Given the description of an element on the screen output the (x, y) to click on. 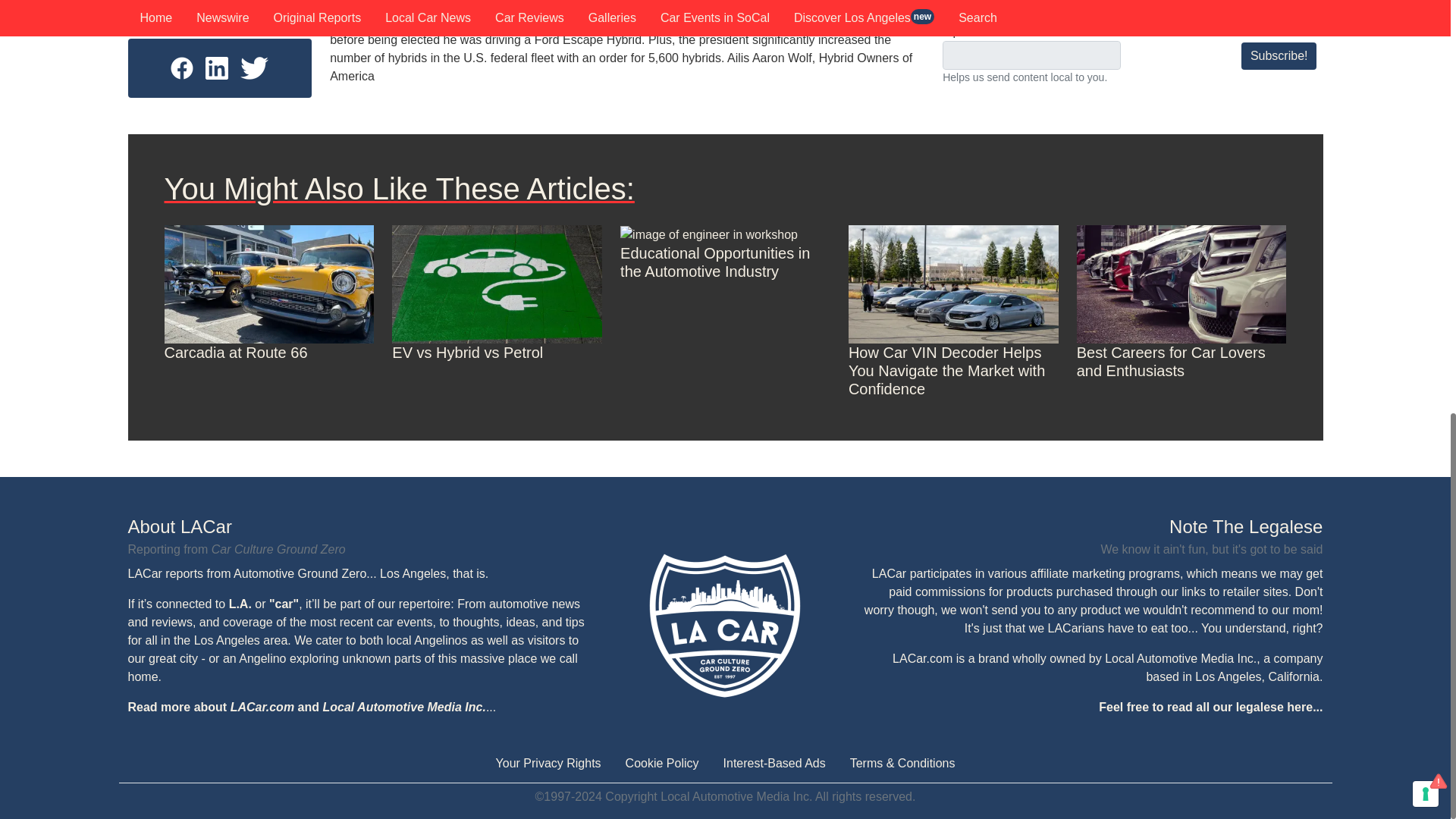
Feel free to read all our legalese here... (1210, 707)
Read more about LACar.com and Local Automotive Media Inc. (306, 707)
About LACar (358, 525)
